Given the description of an element on the screen output the (x, y) to click on. 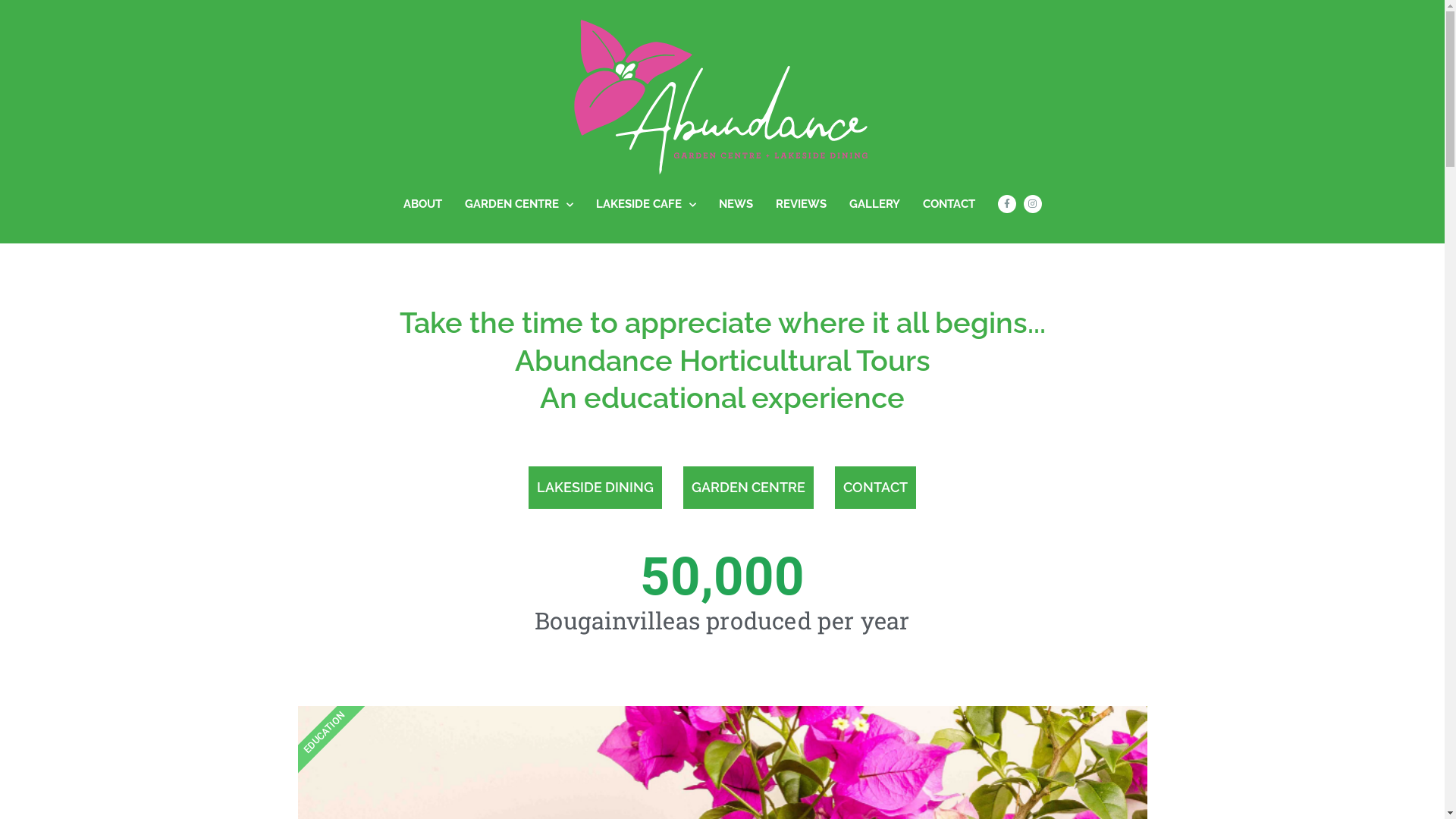
LAKESIDE DINING Element type: text (595, 487)
GARDEN CENTRE Element type: text (518, 203)
ABOUT Element type: text (422, 203)
CONTACT Element type: text (875, 487)
NEWS Element type: text (735, 203)
GARDEN CENTRE Element type: text (748, 487)
GALLERY Element type: text (874, 203)
CONTACT Element type: text (948, 203)
REVIEWS Element type: text (800, 203)
LAKESIDE CAFE Element type: text (646, 203)
